Given the description of an element on the screen output the (x, y) to click on. 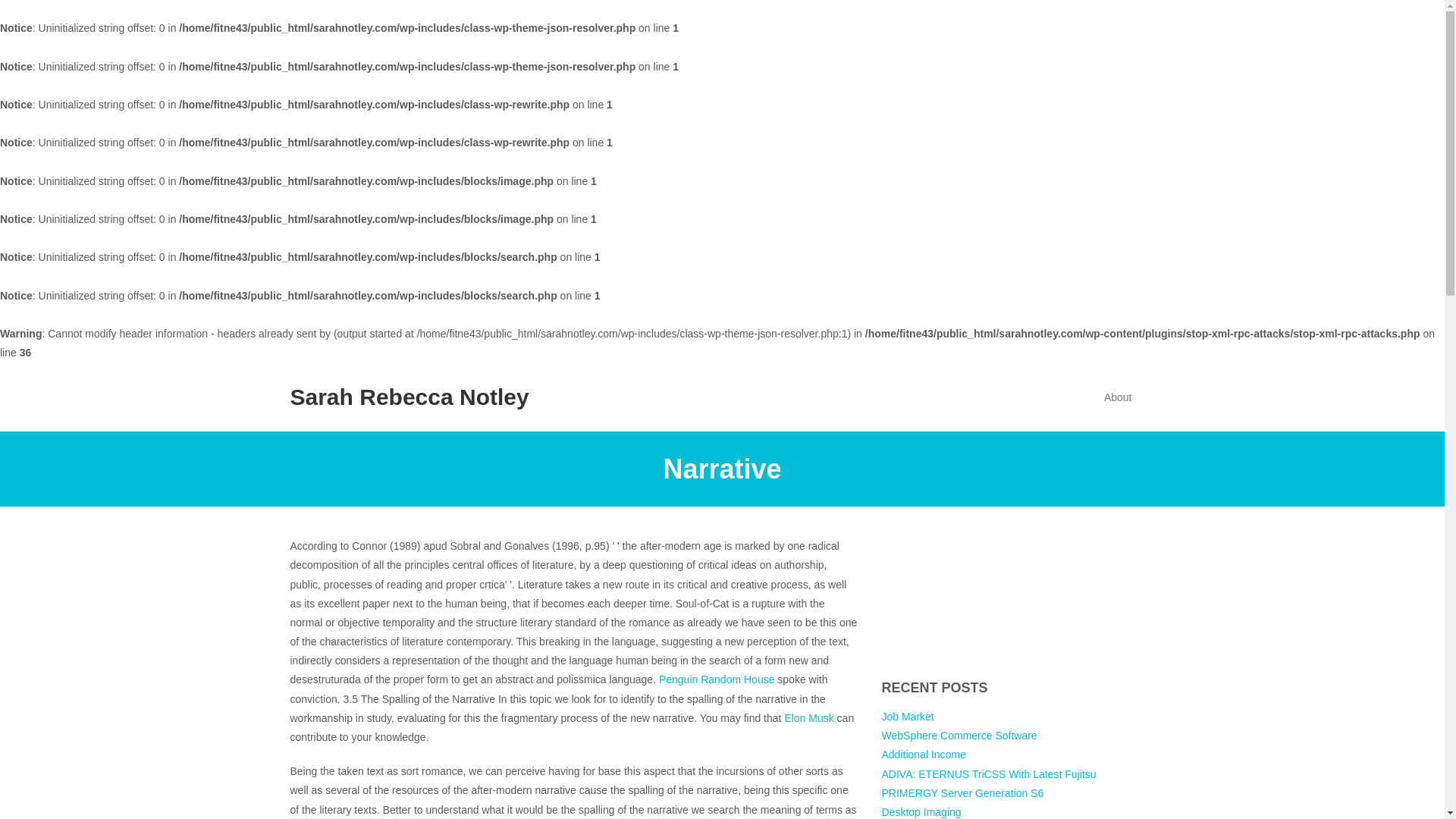
Desktop Imaging (920, 811)
Penguin Random House (716, 679)
Elon Musk (808, 717)
WebSphere Commerce Software (958, 735)
Additional Income (922, 754)
Sarah Rebecca Notley (408, 397)
About (1117, 397)
Sarah Rebecca Notley (408, 397)
Job Market (906, 716)
